Given the description of an element on the screen output the (x, y) to click on. 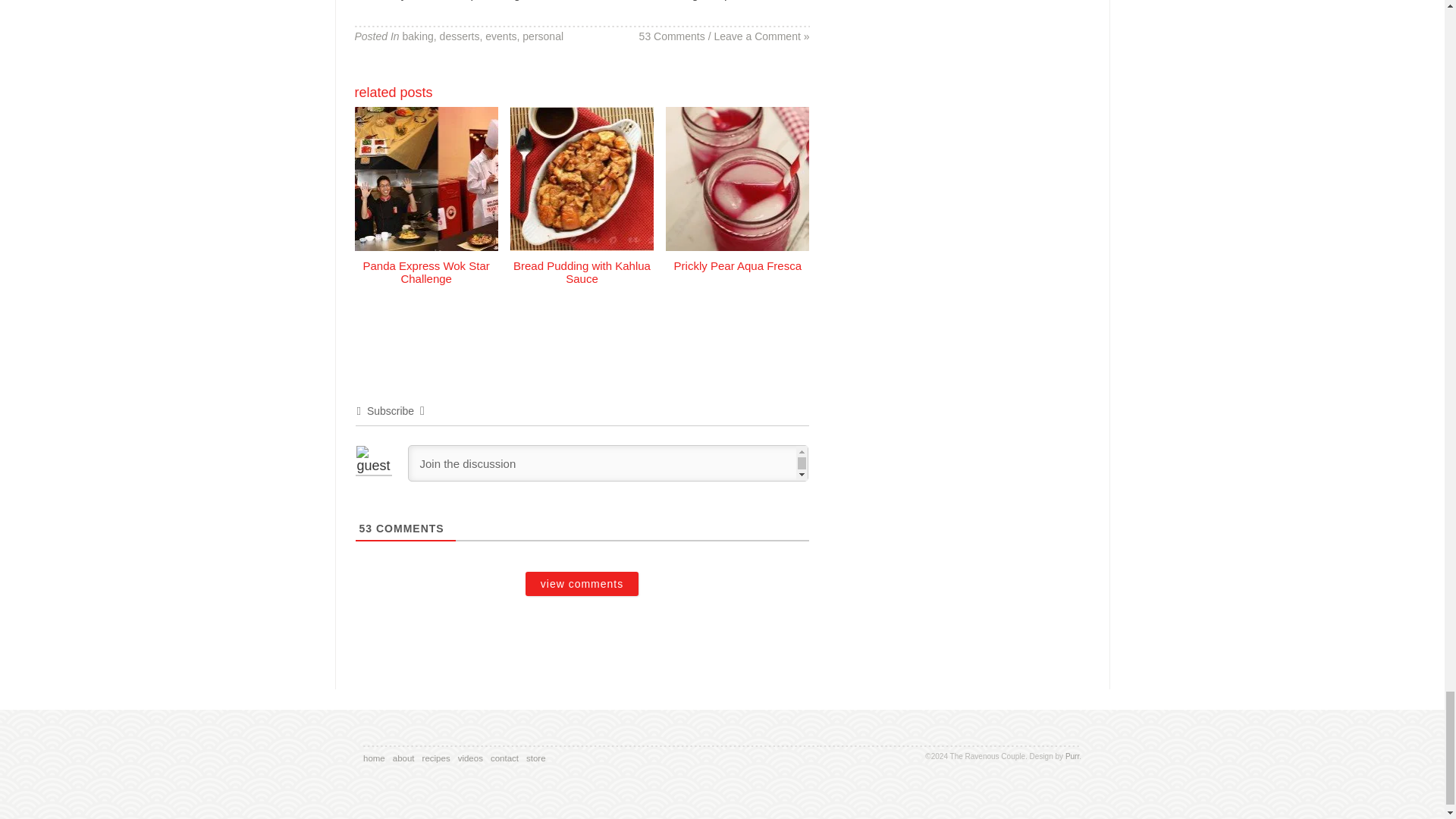
Prickly Pear Aqua Fresca (737, 257)
events (500, 36)
personal (542, 36)
Bread Pudding with Kahlua Sauce (582, 264)
Panda Express Wok Star Challenge (426, 264)
Panda Express Wok Star Challenge (426, 264)
53 Comments (671, 36)
baking (418, 36)
view comments (582, 583)
Prickly Pear Aqua Fresca (737, 257)
